Given the description of an element on the screen output the (x, y) to click on. 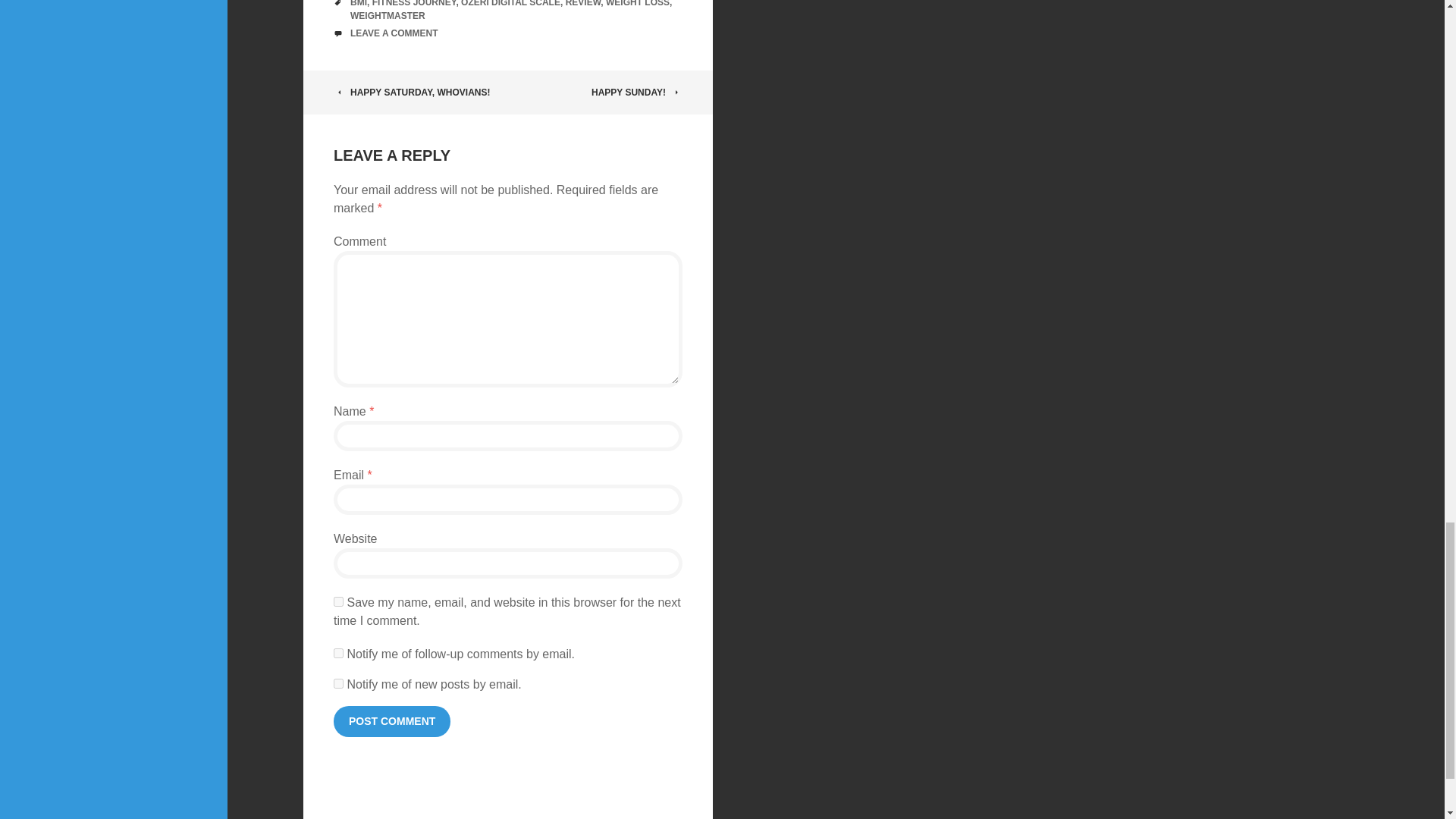
WEIGHTMASTER (387, 15)
FITNESS JOURNEY (414, 3)
LEAVE A COMMENT (394, 32)
REVIEW (583, 3)
yes (338, 601)
Post Comment (391, 721)
subscribe (338, 653)
WEIGHT LOSS (637, 3)
OZERI DIGITAL SCALE (510, 3)
BMI (358, 3)
